Given the description of an element on the screen output the (x, y) to click on. 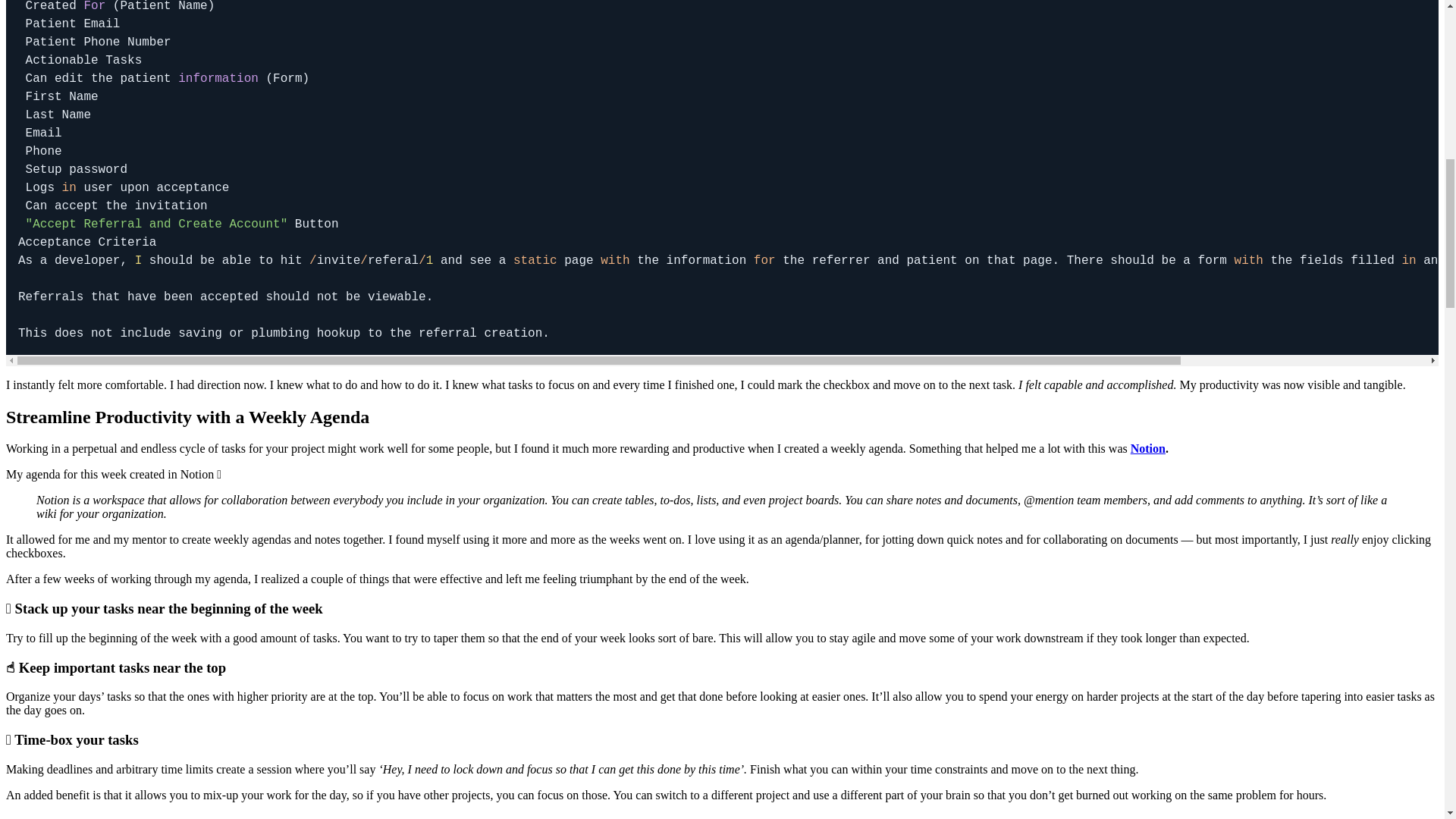
Notion (1148, 448)
